Given the description of an element on the screen output the (x, y) to click on. 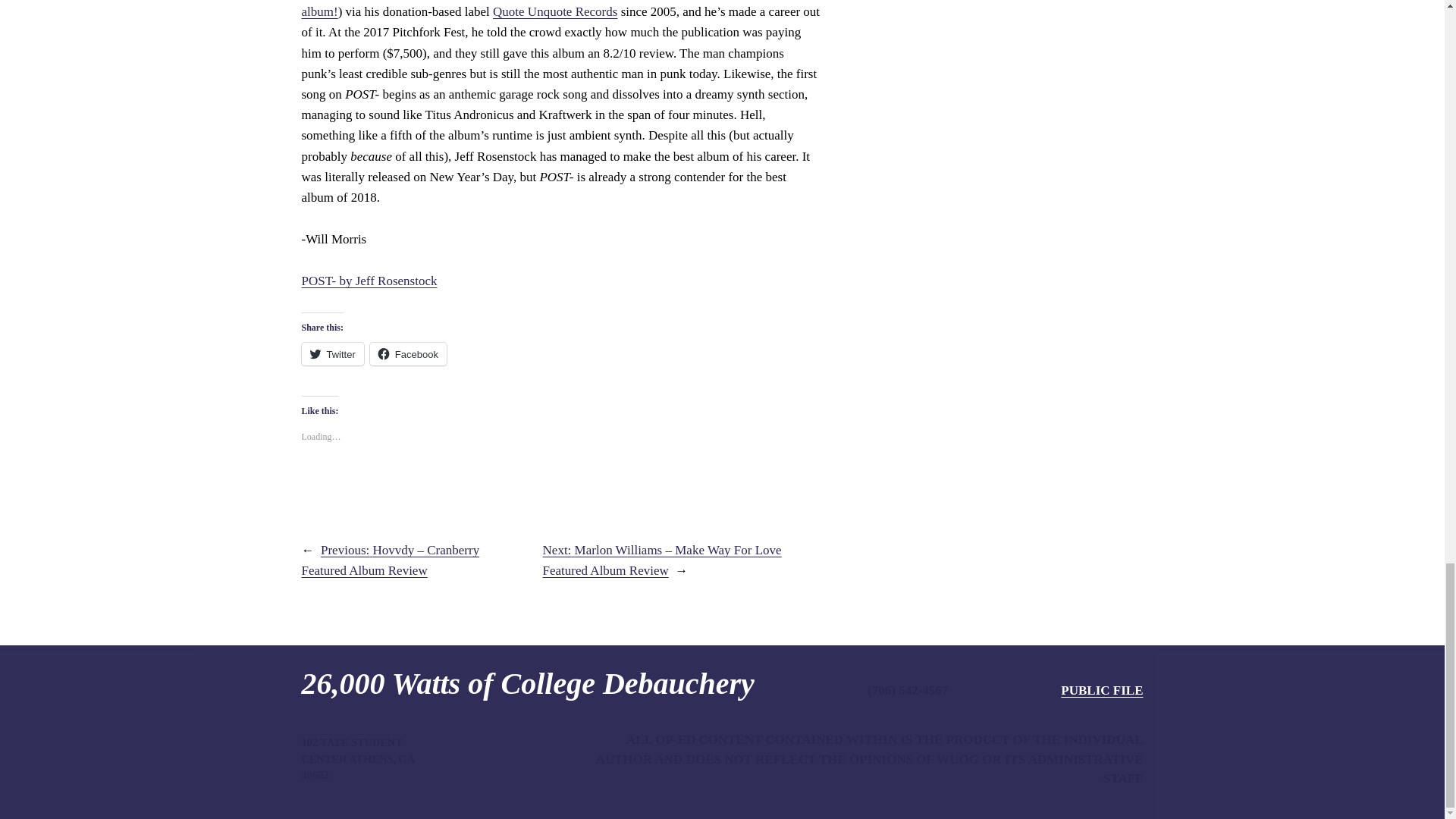
Twitter (332, 354)
Quote Unquote Records (555, 11)
Click to share on Twitter (332, 354)
including this album! (550, 9)
Facebook (407, 354)
POST- by Jeff Rosenstock (369, 280)
Click to share on Facebook (407, 354)
